Given the description of an element on the screen output the (x, y) to click on. 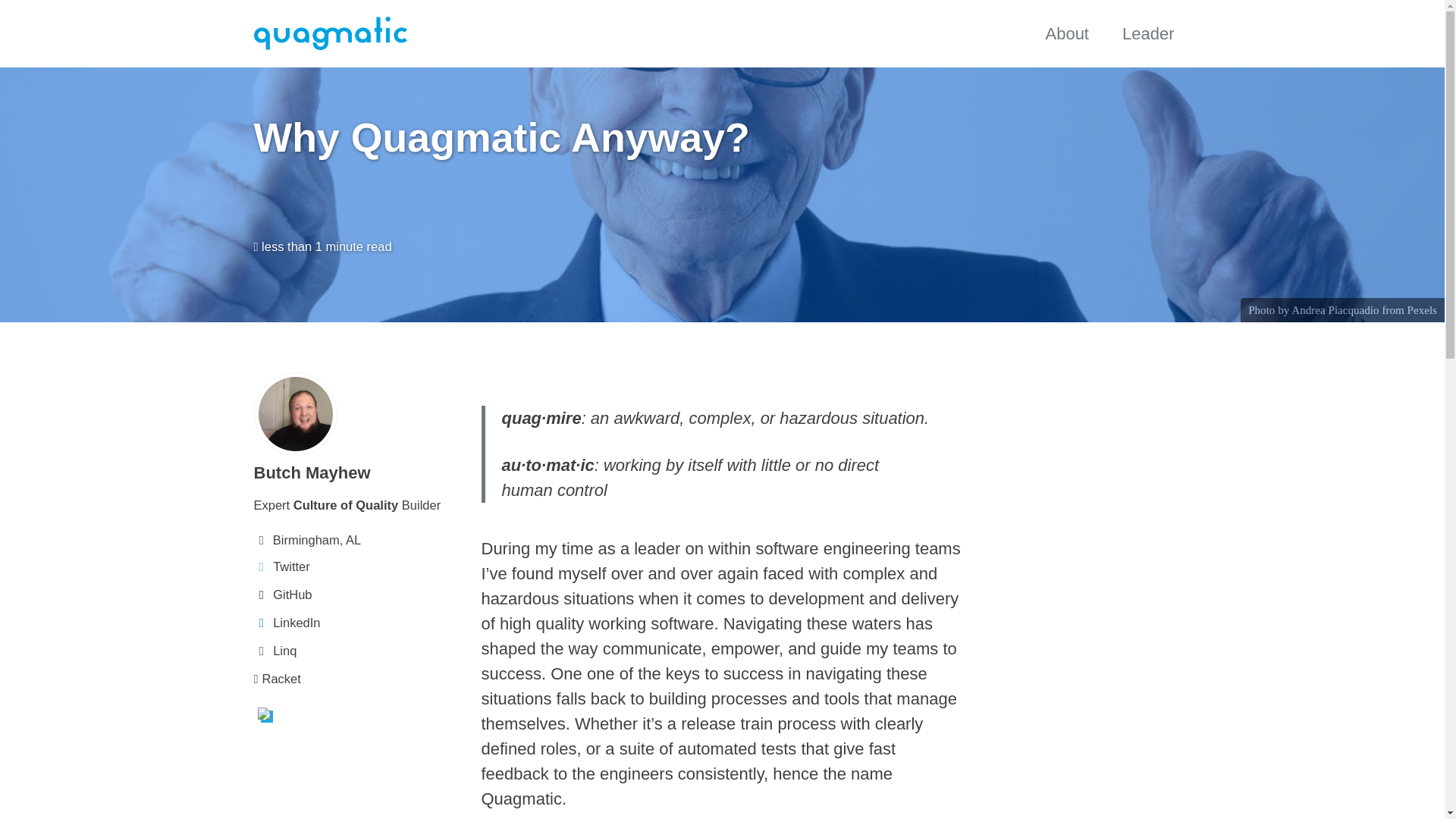
Twitter (358, 567)
GitHub (358, 594)
Linq (358, 650)
LinkedIn (358, 622)
About (1067, 33)
Leader (1148, 33)
Racket (358, 679)
